Given the description of an element on the screen output the (x, y) to click on. 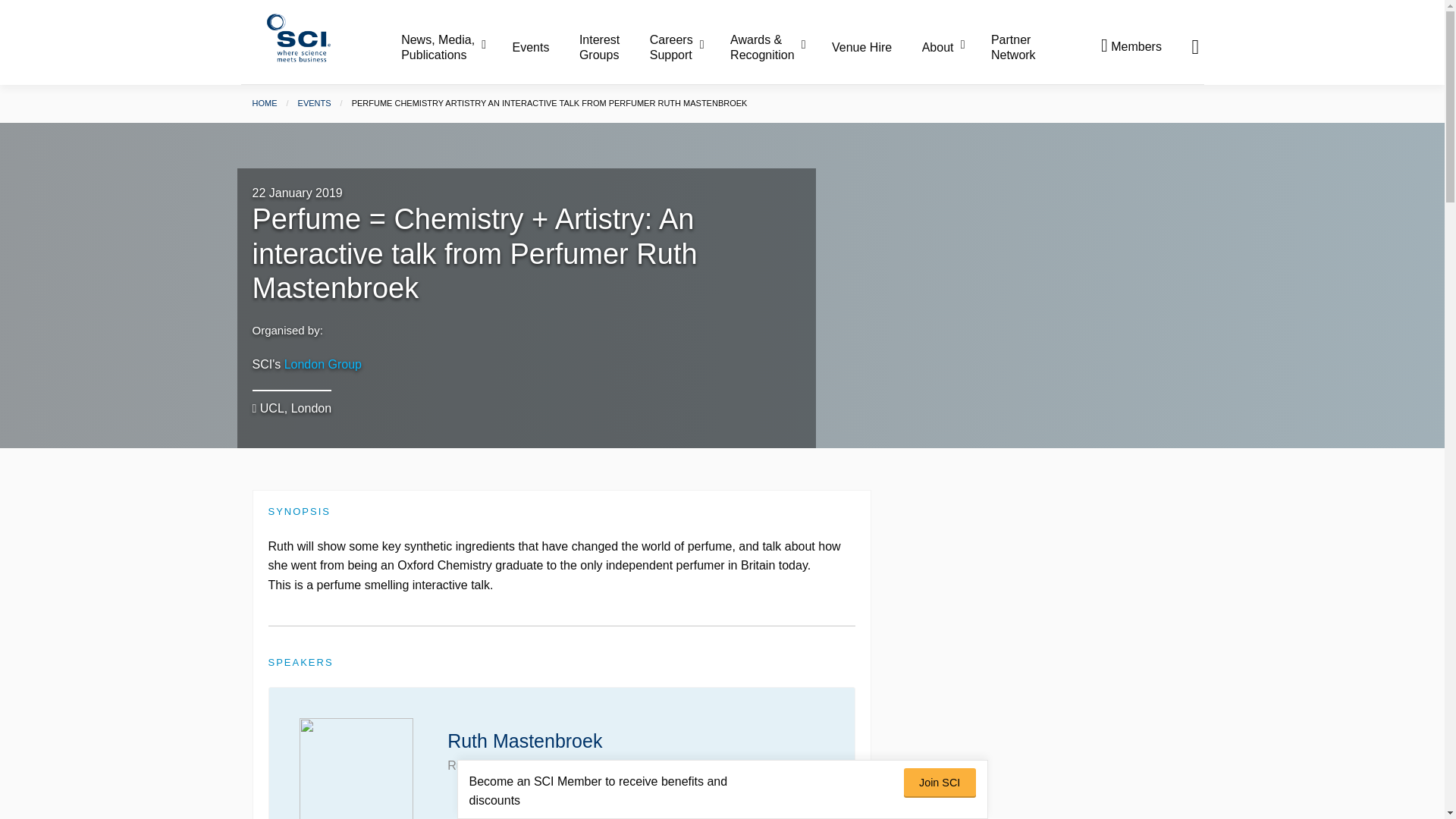
Venue Hire (874, 47)
About (954, 47)
News, Media, Publications (454, 47)
Interest Groups (612, 47)
Events (544, 47)
Partner Network (1013, 47)
Careers Support (687, 47)
